Given the description of an element on the screen output the (x, y) to click on. 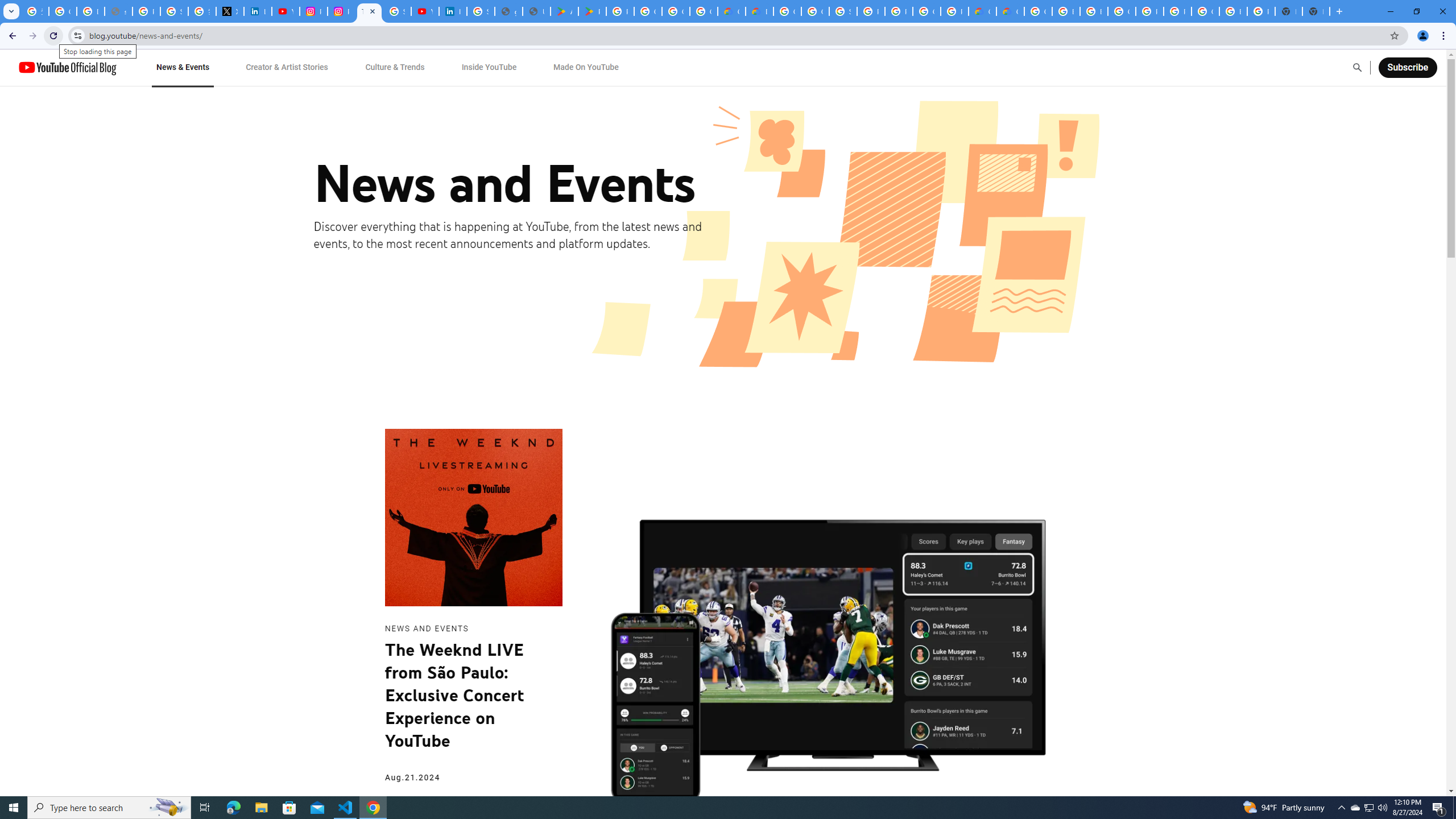
support.google.com - Network error (118, 11)
Made On YouTube (585, 67)
Inside YouTube (488, 67)
Google Cloud Platform (1038, 11)
Google Cloud Platform (1121, 11)
Google Workspace - Specific Terms (675, 11)
News & Events (182, 67)
